Given the description of an element on the screen output the (x, y) to click on. 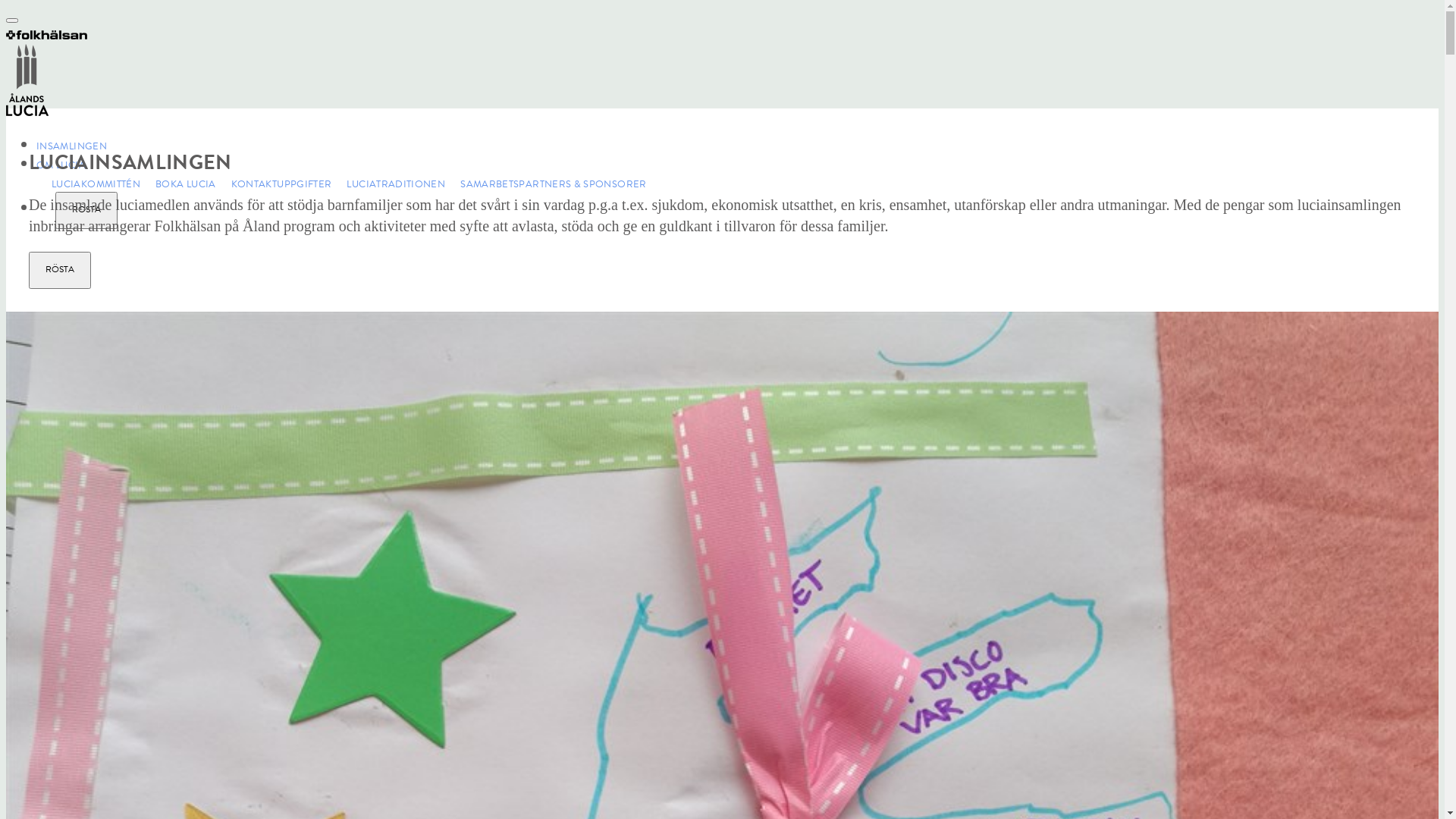
SAMARBETSPARTNERS & SPONSORER Element type: text (545, 183)
LUCIATRADITIONEN Element type: text (388, 183)
INSAMLINGEN Element type: text (71, 138)
KONTAKTUPPGIFTER Element type: text (274, 183)
BOKA LUCIA Element type: text (178, 183)
OM LUCIA Element type: text (60, 157)
